Given the description of an element on the screen output the (x, y) to click on. 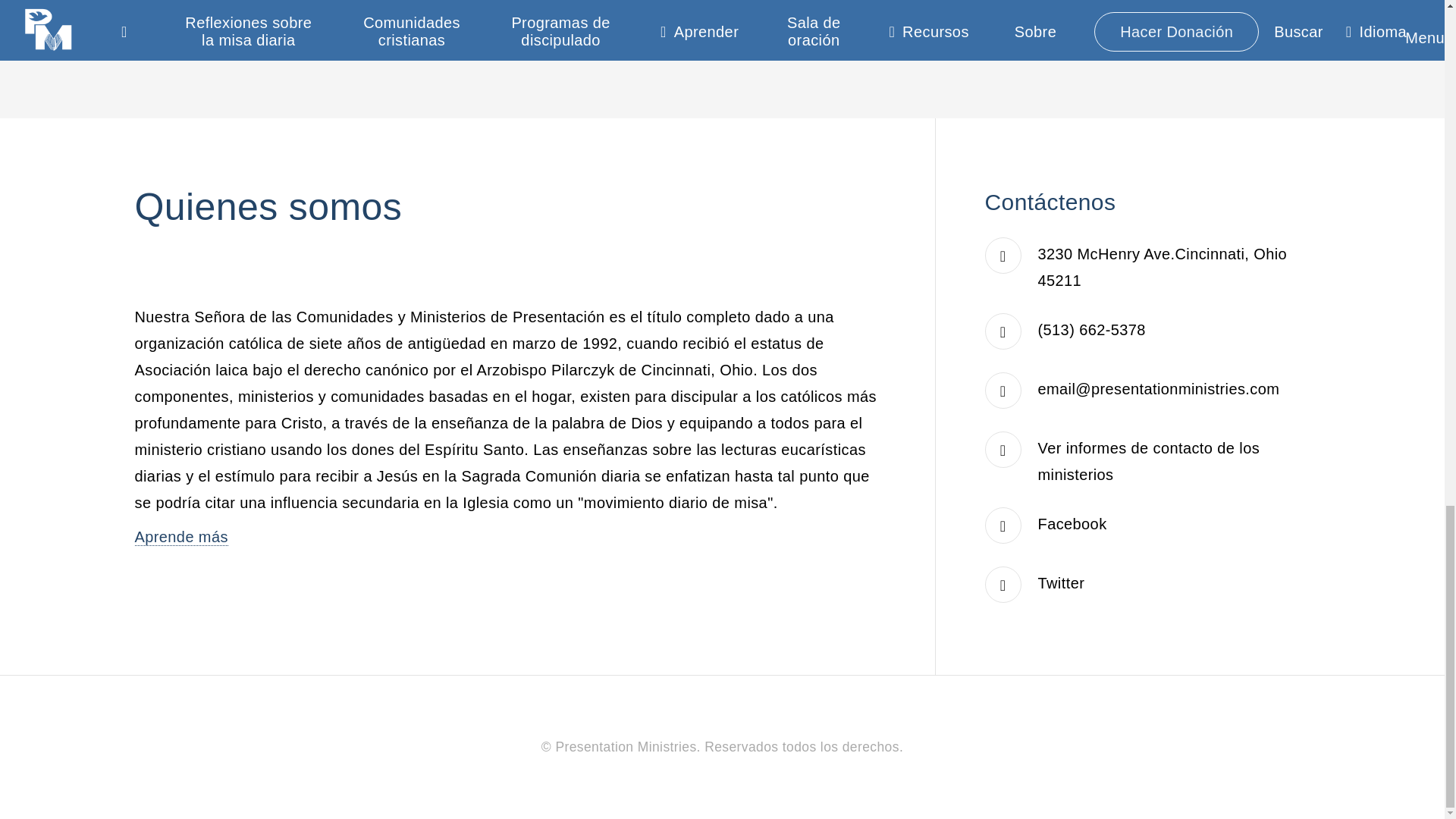
Facebook (1072, 523)
Telephone (1091, 329)
Twitter (1061, 582)
E-mail (1158, 388)
